Given the description of an element on the screen output the (x, y) to click on. 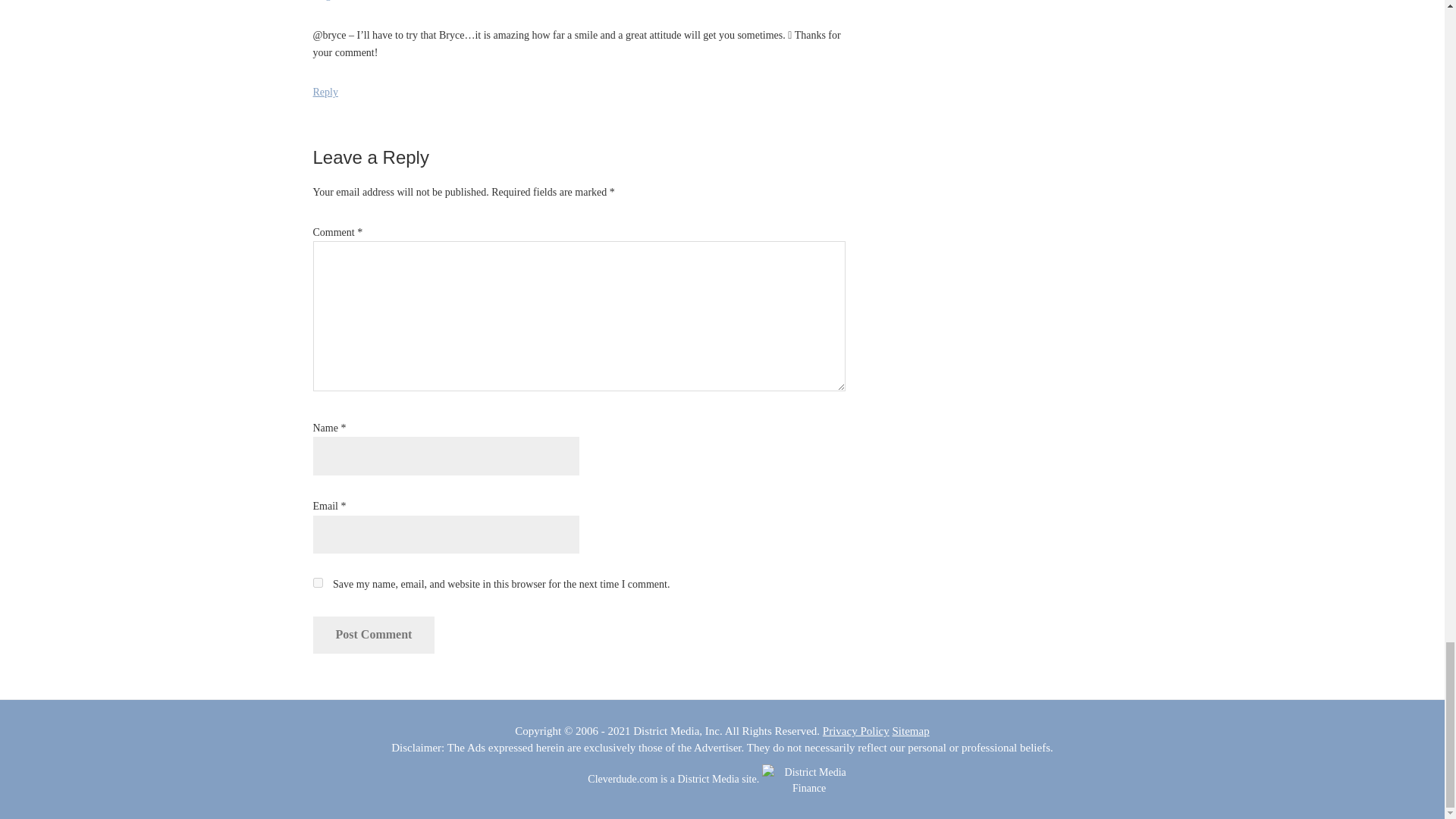
Post Comment (373, 634)
yes (317, 583)
Reply (325, 91)
